Given the description of an element on the screen output the (x, y) to click on. 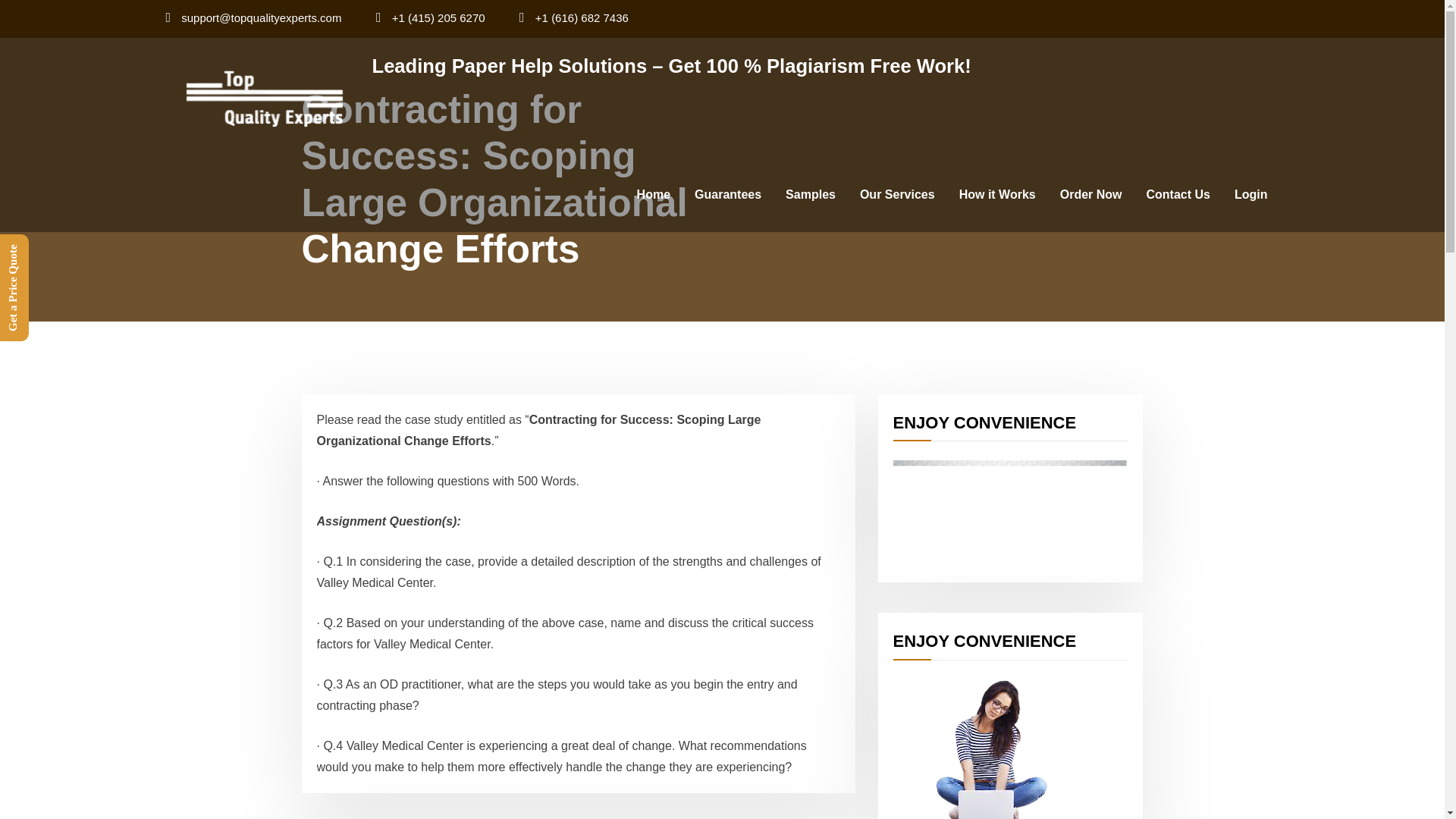
Contact Us (1178, 194)
Get a Price Quote (52, 249)
Samples (810, 194)
Our Services (897, 194)
Guarantees (727, 194)
How it Works (997, 194)
Order Now (1091, 194)
